Given the description of an element on the screen output the (x, y) to click on. 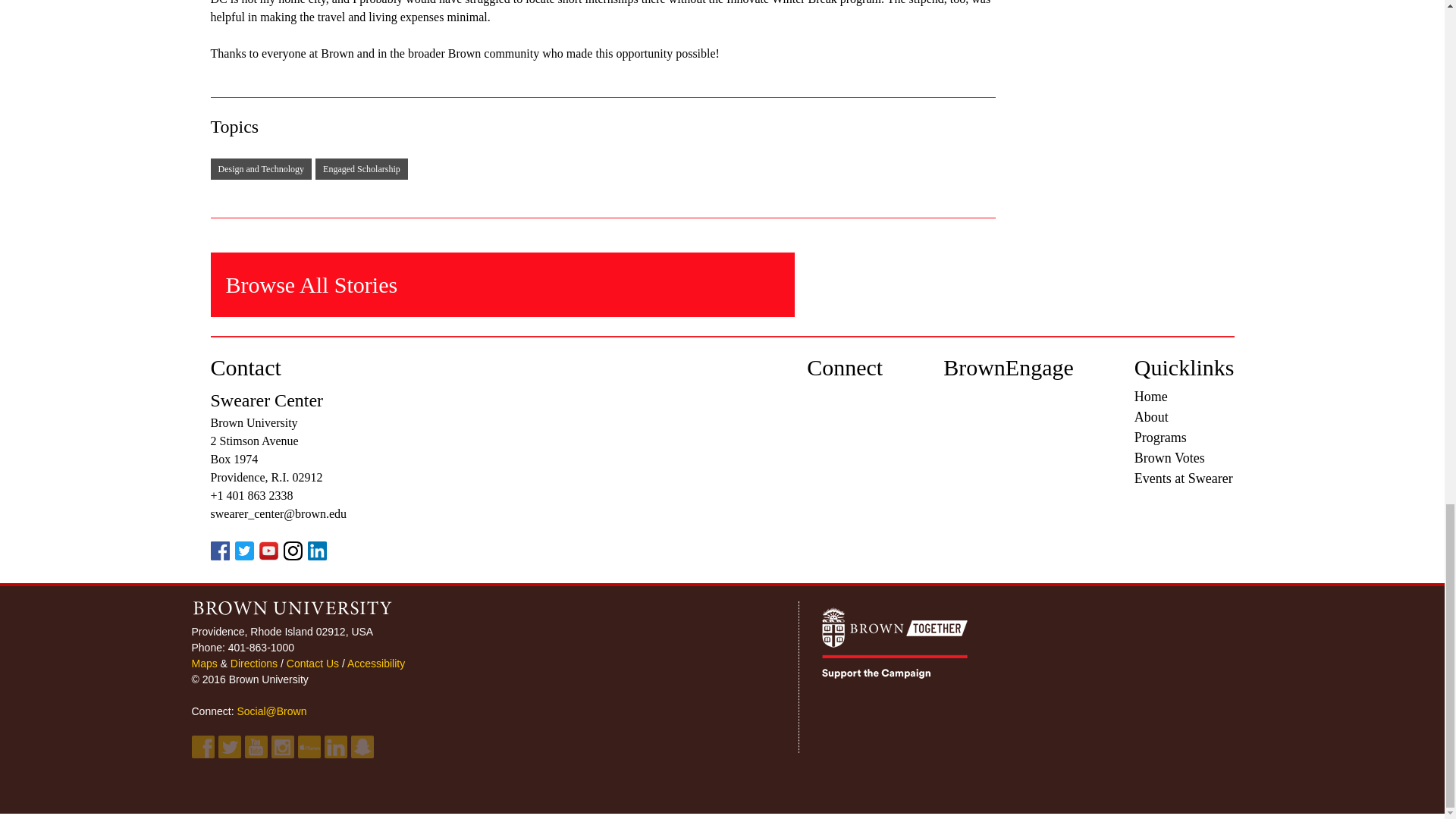
Facebook (202, 746)
Get Connected to the Brown Community (270, 711)
About Us (1151, 417)
